Given the description of an element on the screen output the (x, y) to click on. 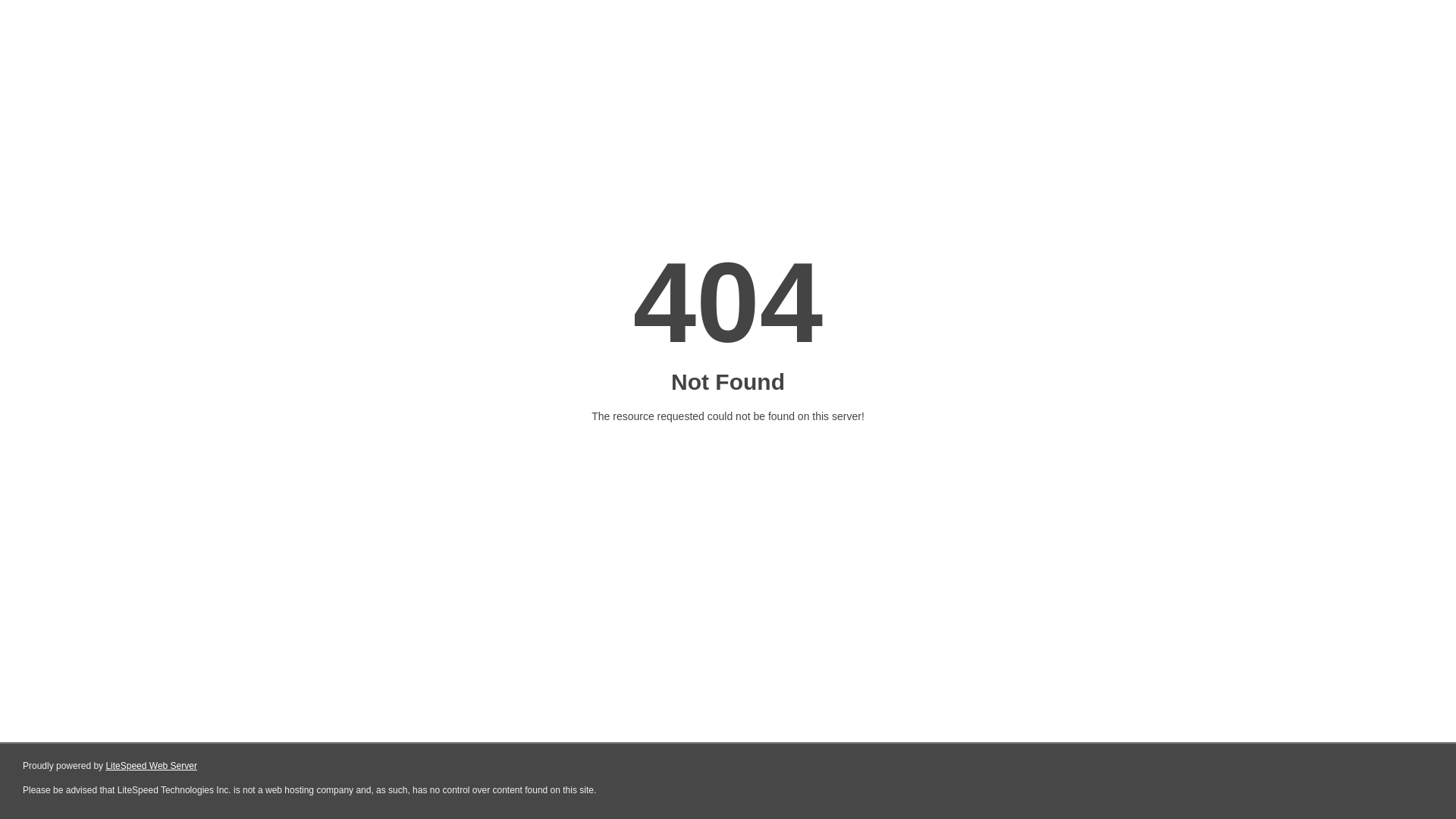
LiteSpeed Web Server Element type: text (151, 765)
